Given the description of an element on the screen output the (x, y) to click on. 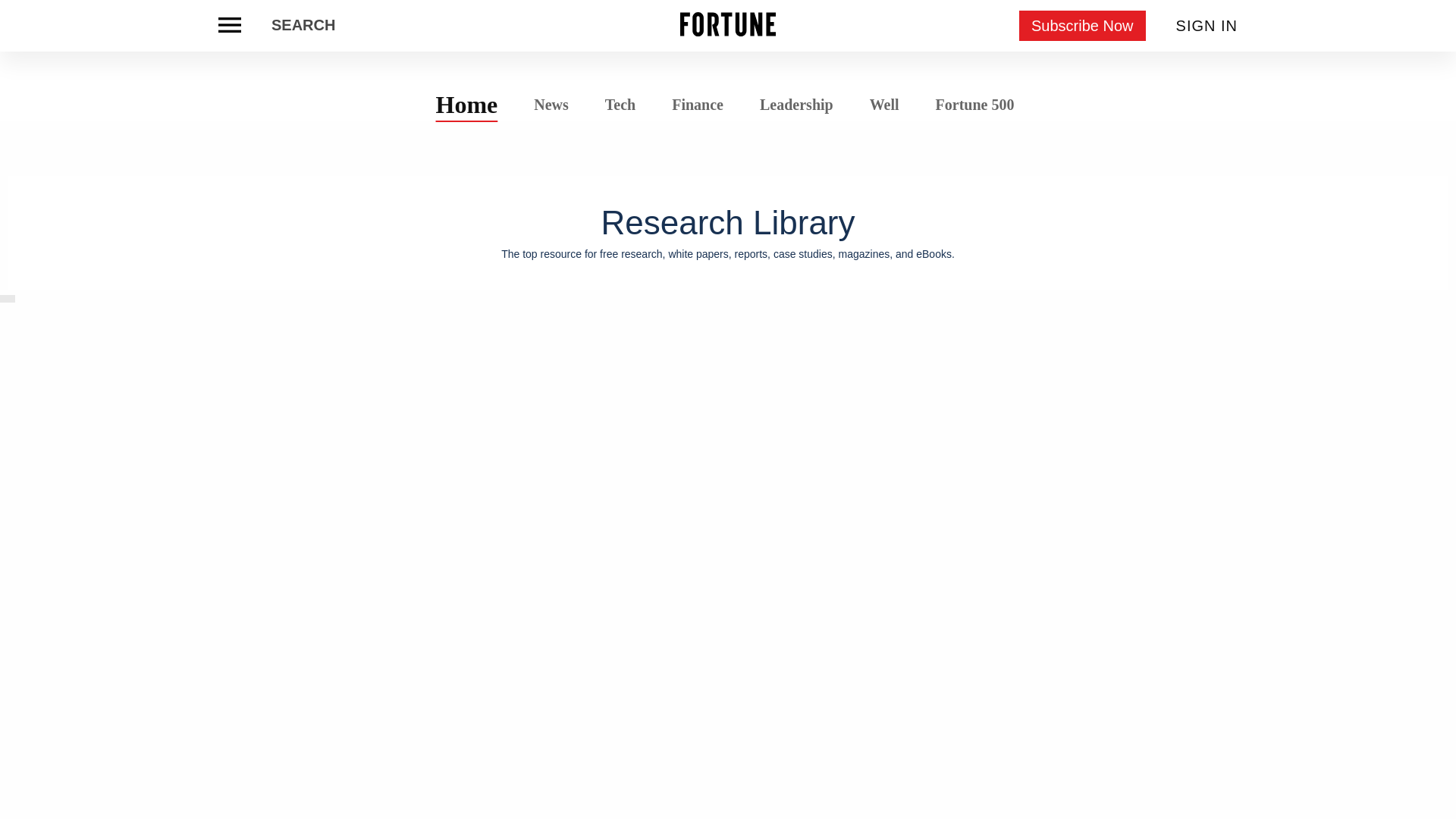
SIGN IN (1206, 25)
Finance (697, 104)
News (550, 103)
Home (466, 103)
Leadership (796, 104)
Tech (619, 104)
SEARCH (302, 25)
Subscribe Now (1082, 25)
Well (884, 104)
Fortune 500 (974, 103)
